Given the description of an element on the screen output the (x, y) to click on. 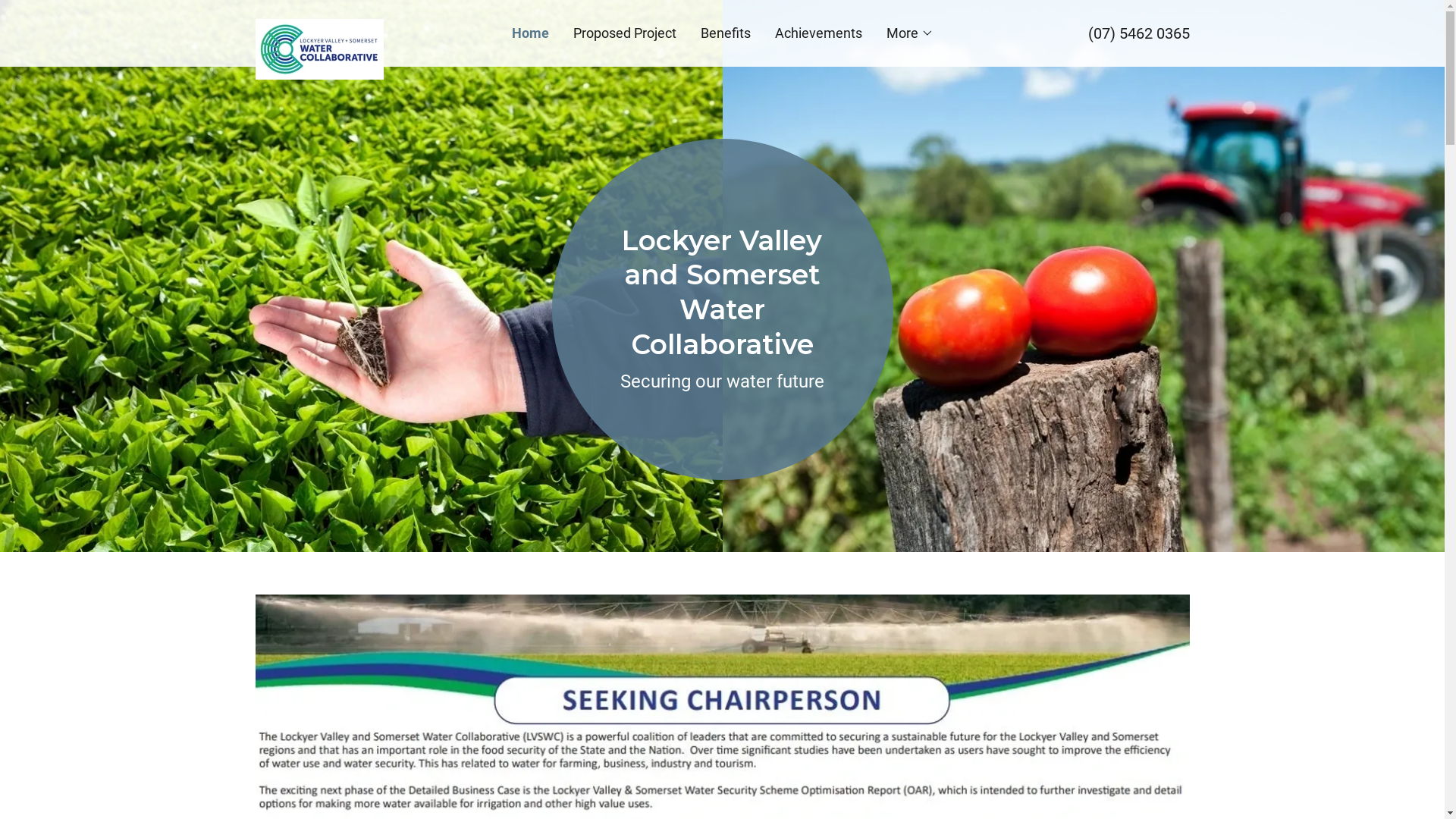
More Element type: text (908, 33)
Proposed Project Element type: text (624, 33)
Lockyer Valley and Somerset Water Collaborative Element type: hover (371, 25)
Home Element type: text (529, 33)
(07) 5462 0365 Element type: text (1138, 33)
Achievements Element type: text (818, 33)
Benefits Element type: text (725, 33)
